Given the description of an element on the screen output the (x, y) to click on. 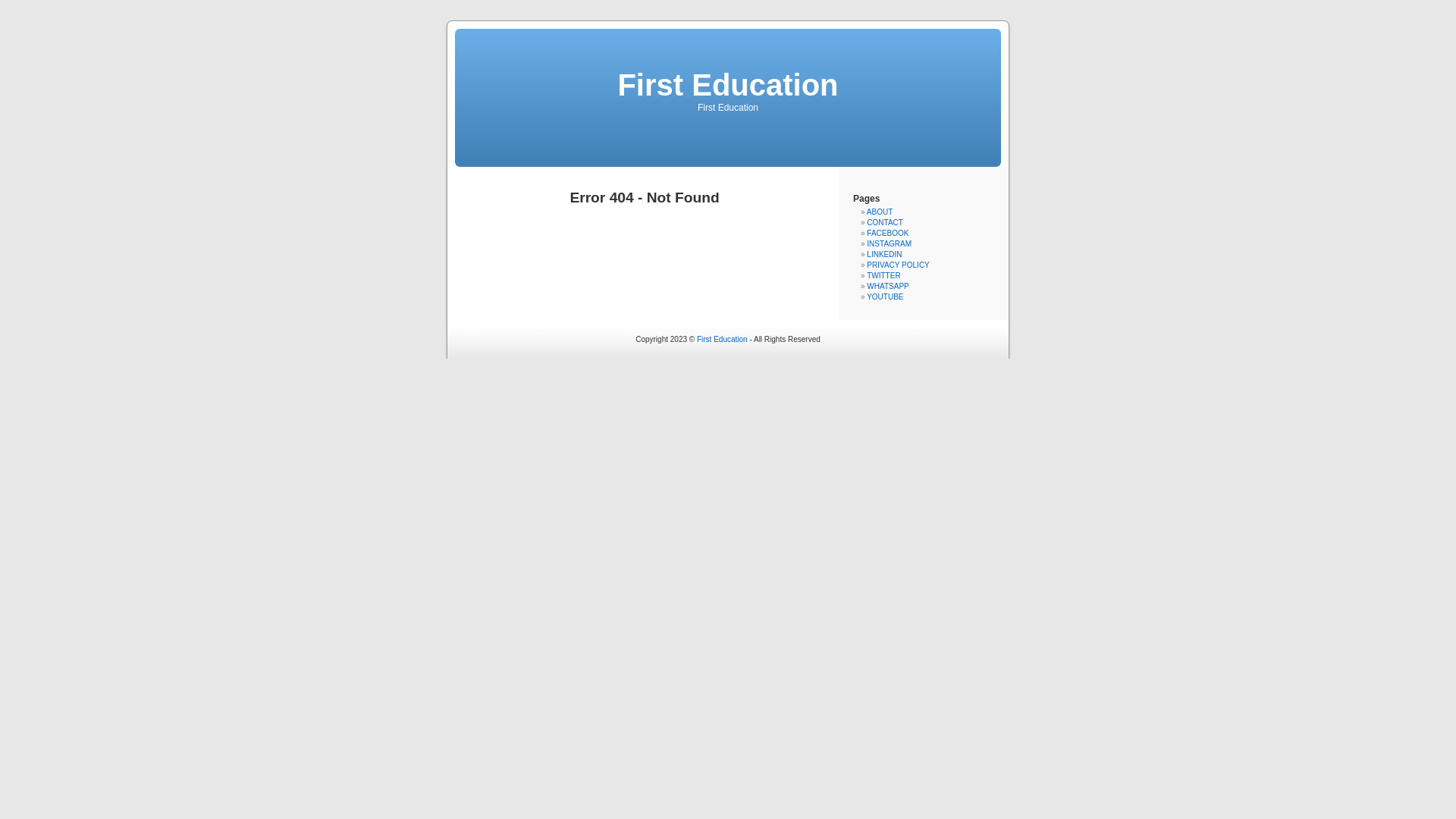
TWITTER Element type: text (883, 275)
WHATSAPP Element type: text (887, 286)
PRIVACY POLICY Element type: text (897, 264)
CONTACT Element type: text (884, 222)
First Education Element type: text (727, 84)
ABOUT Element type: text (879, 211)
First Education Element type: text (721, 339)
INSTAGRAM Element type: text (888, 243)
LINKEDIN Element type: text (883, 254)
FACEBOOK Element type: text (887, 233)
YOUTUBE Element type: text (884, 296)
